Given the description of an element on the screen output the (x, y) to click on. 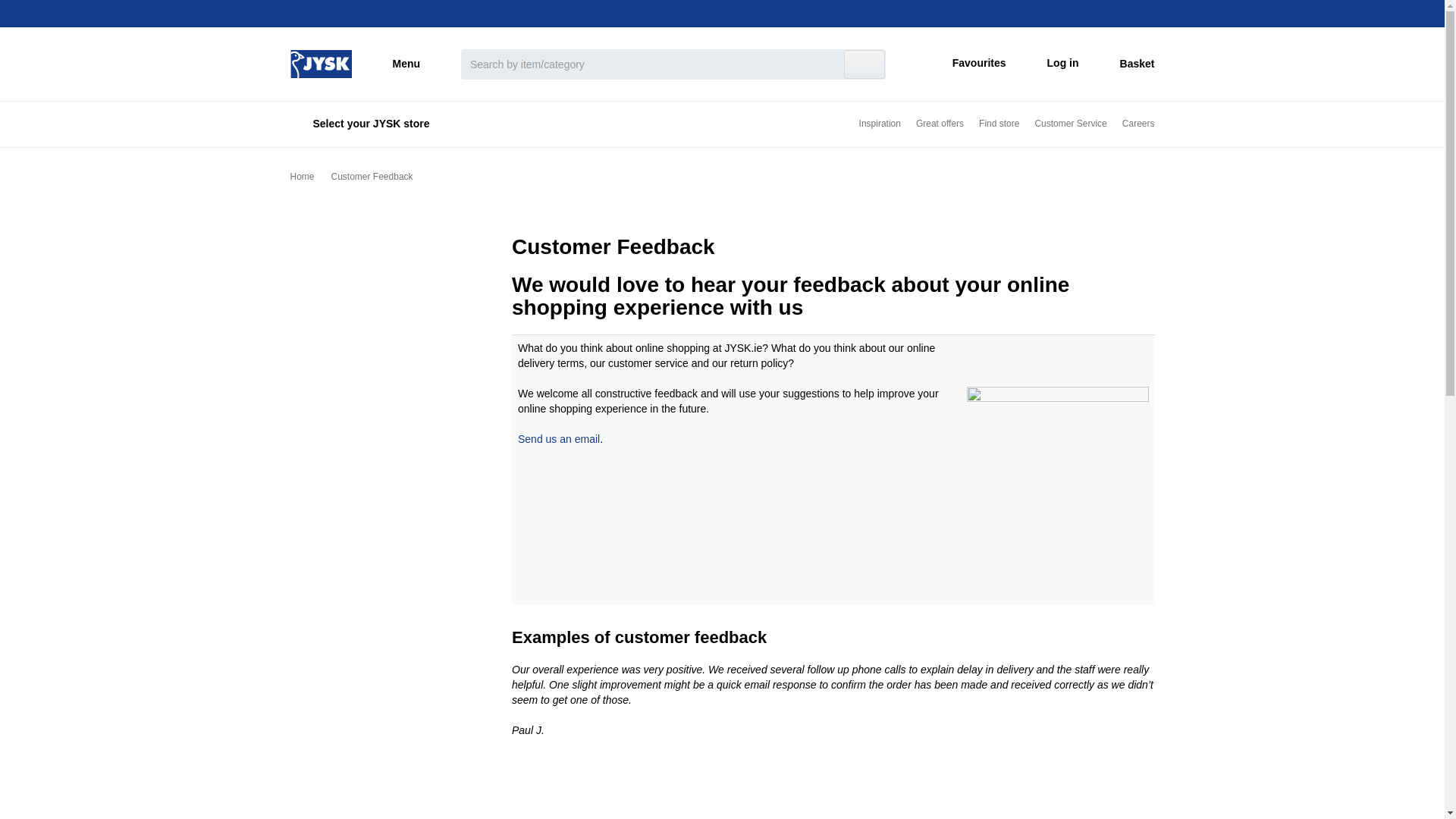
Send us an email (558, 439)
Log in (1050, 63)
Inspiration (872, 123)
Select your JYSK store (364, 124)
Home (319, 62)
Great offers (932, 123)
Favourites (966, 63)
Customer Service (1062, 123)
Careers (721, 176)
